Given the description of an element on the screen output the (x, y) to click on. 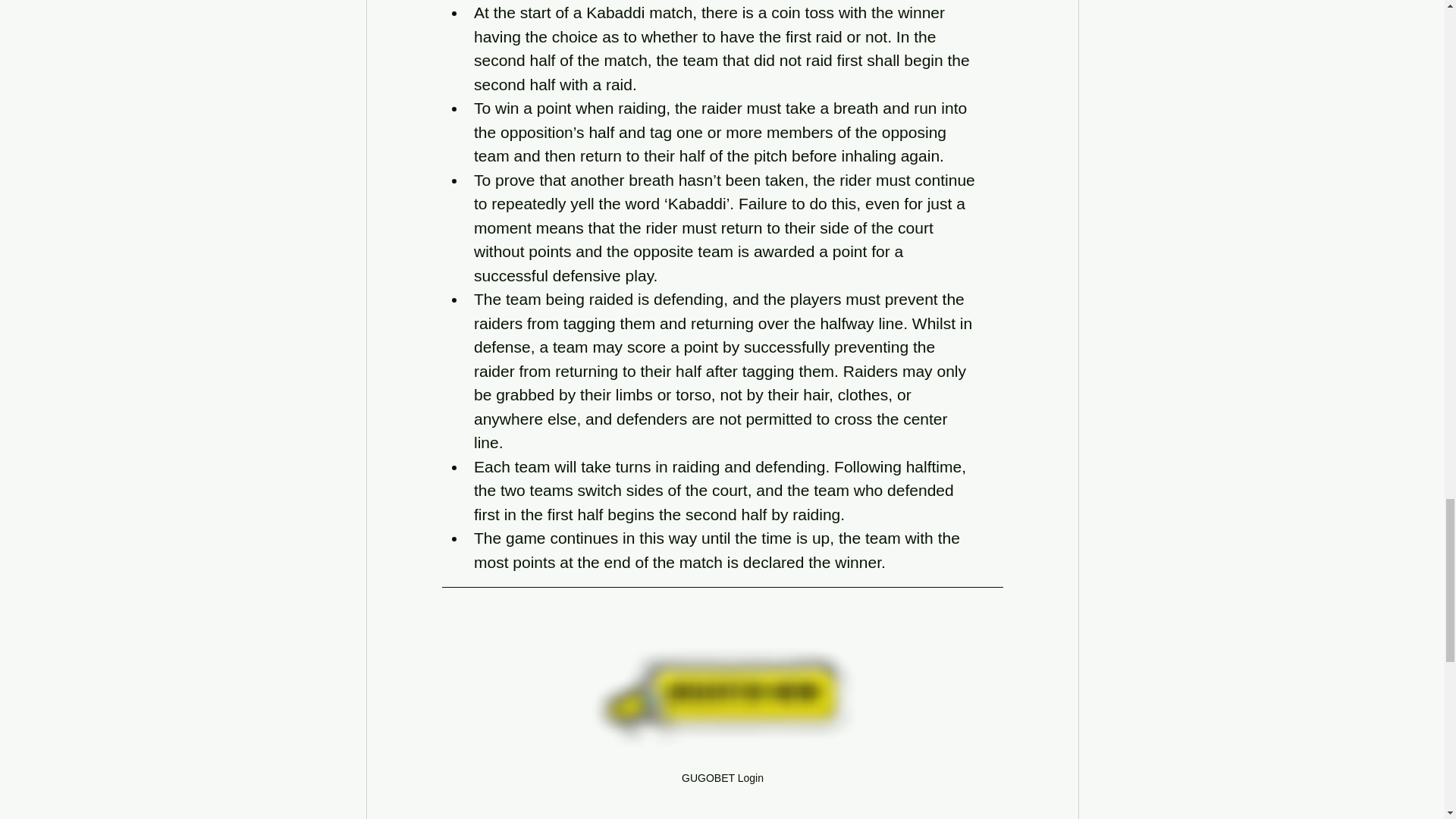
GUGOBET Login (722, 716)
